Given the description of an element on the screen output the (x, y) to click on. 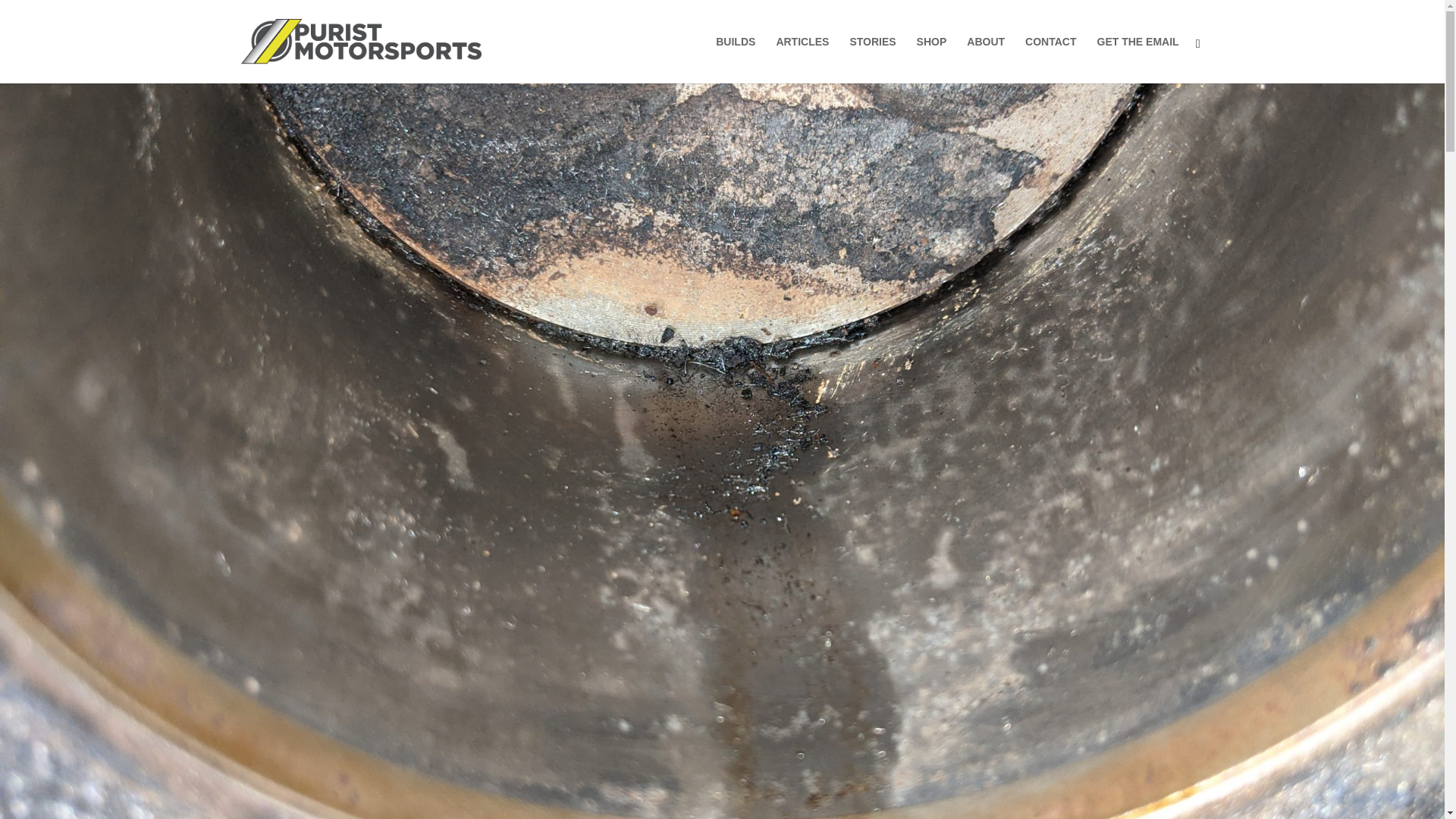
STORIES (871, 59)
ARTICLES (802, 59)
GET THE EMAIL (1138, 59)
CONTACT (1050, 59)
